Given the description of an element on the screen output the (x, y) to click on. 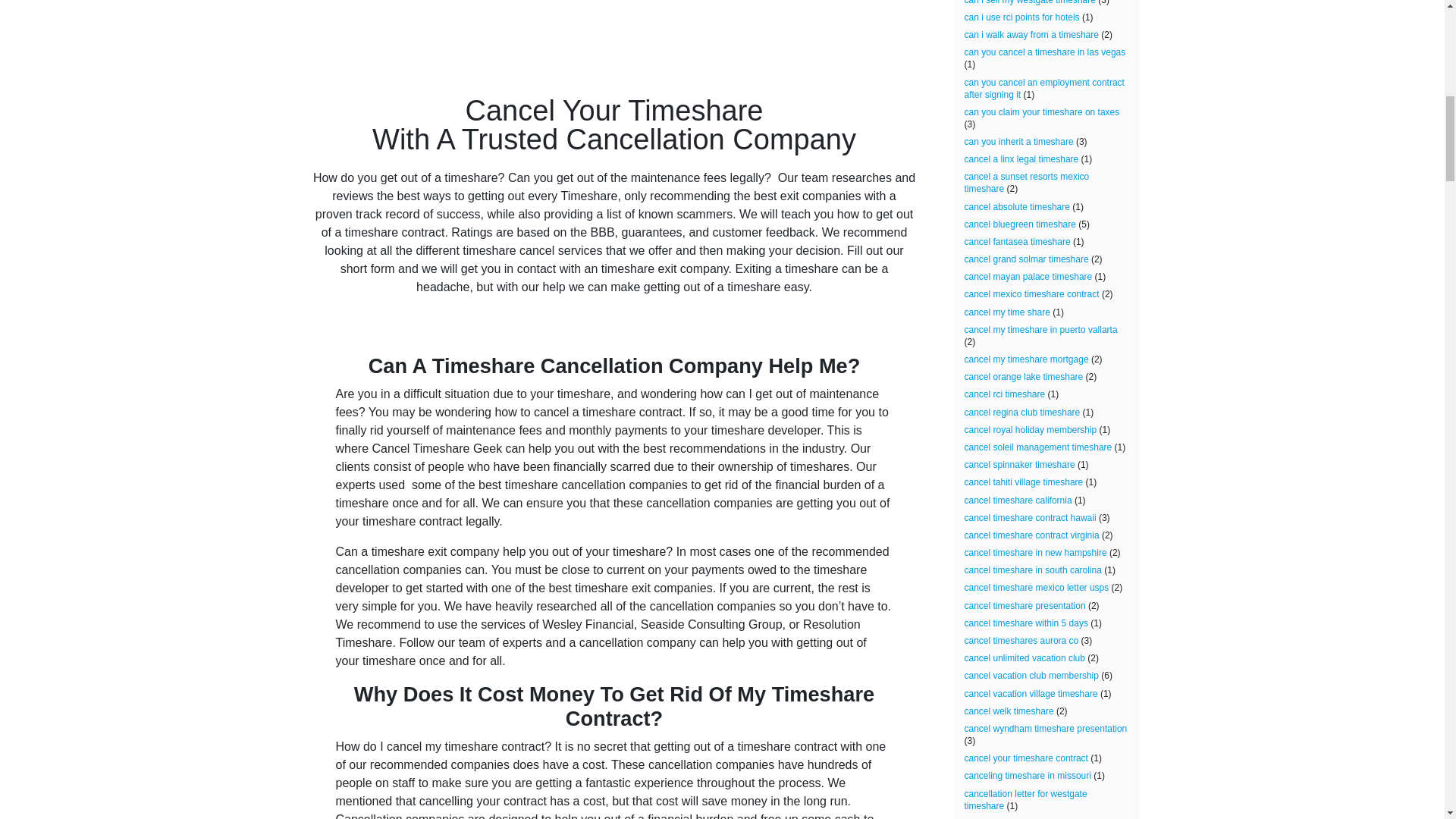
can i use rci points for hotels (1021, 17)
can i sell my westgate timeshare (1029, 2)
We can ensure (522, 502)
